Given the description of an element on the screen output the (x, y) to click on. 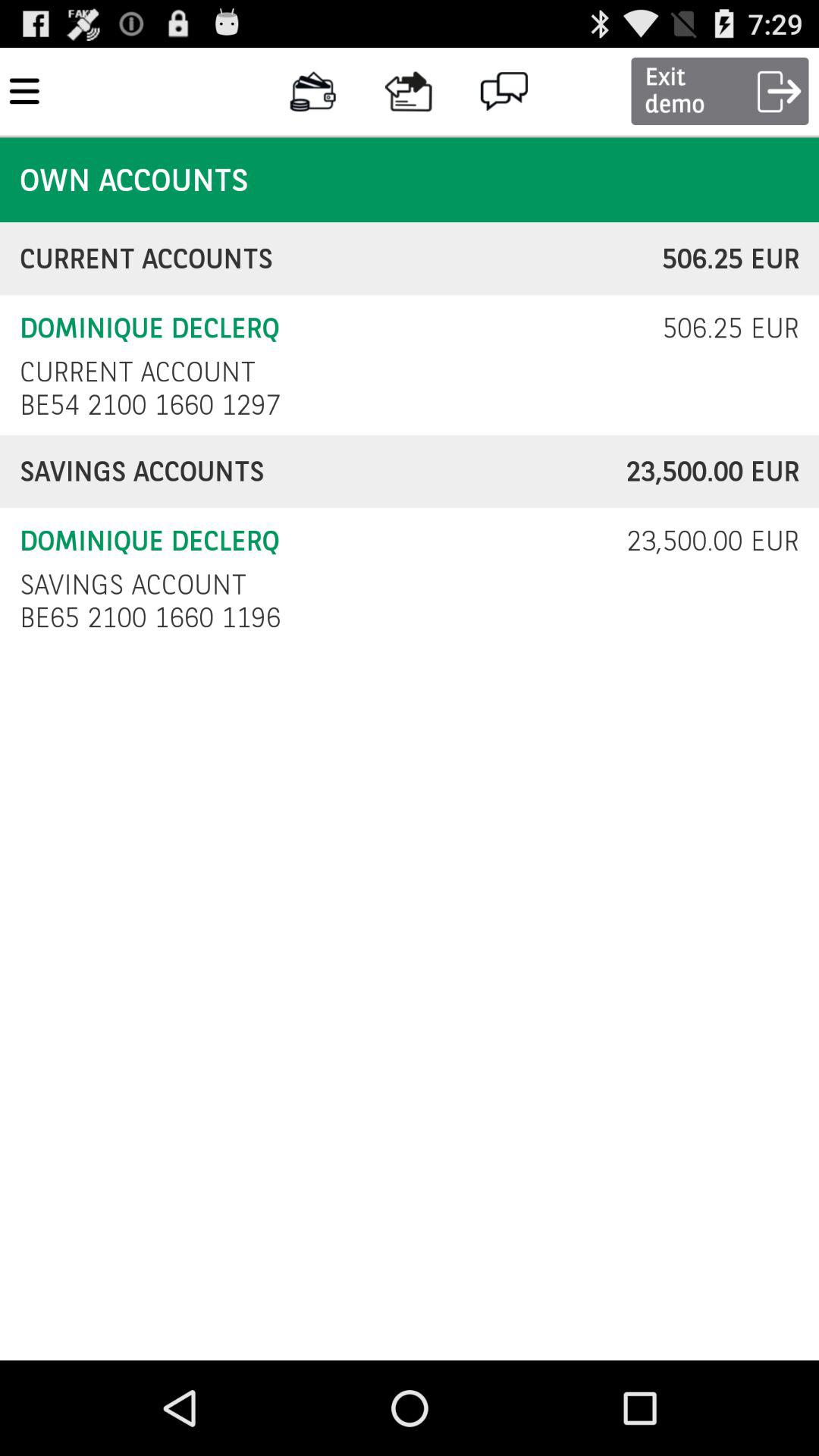
scroll until the savings account item (132, 584)
